Given the description of an element on the screen output the (x, y) to click on. 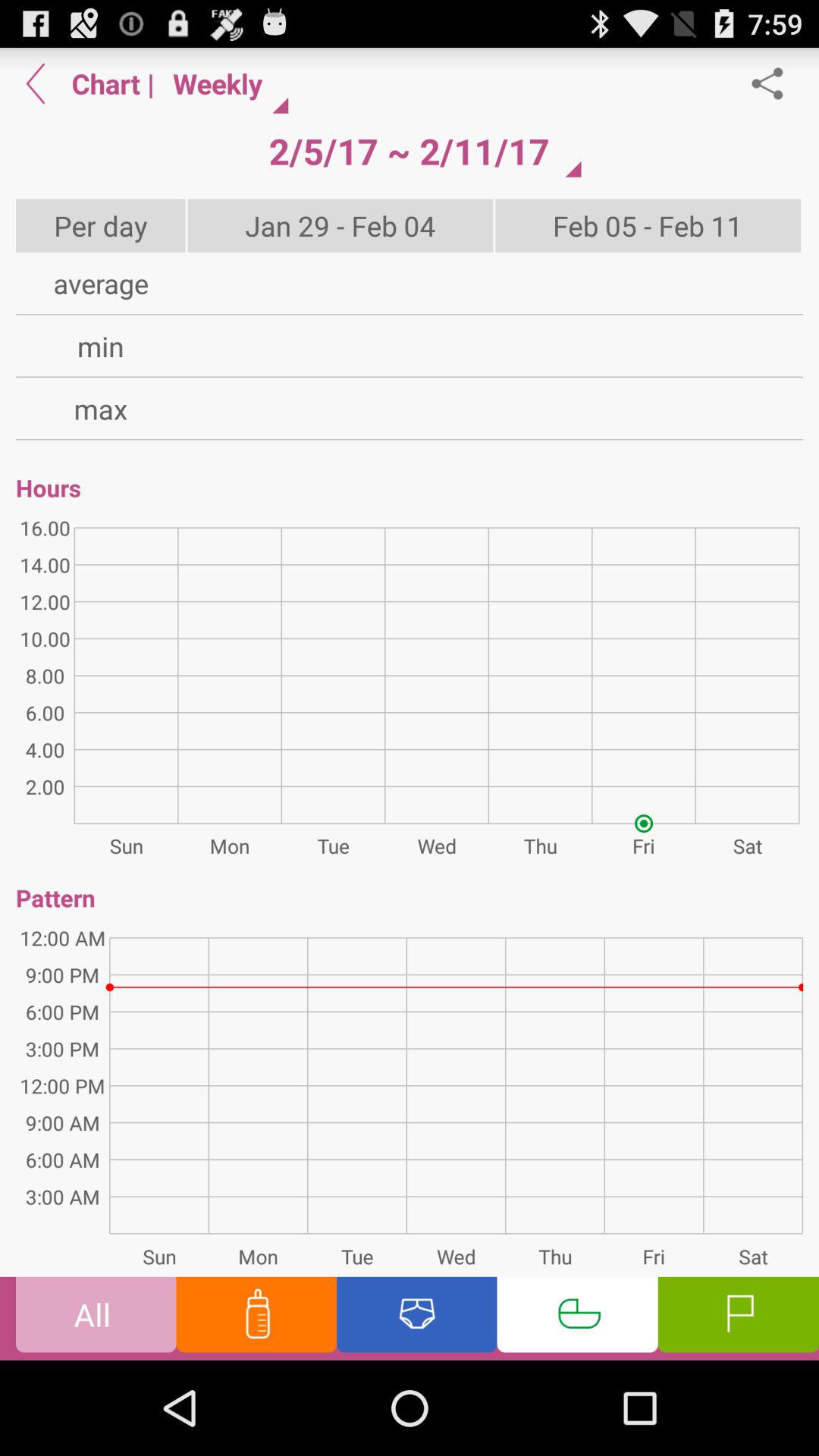
launch the app to the right of  | (224, 83)
